Given the description of an element on the screen output the (x, y) to click on. 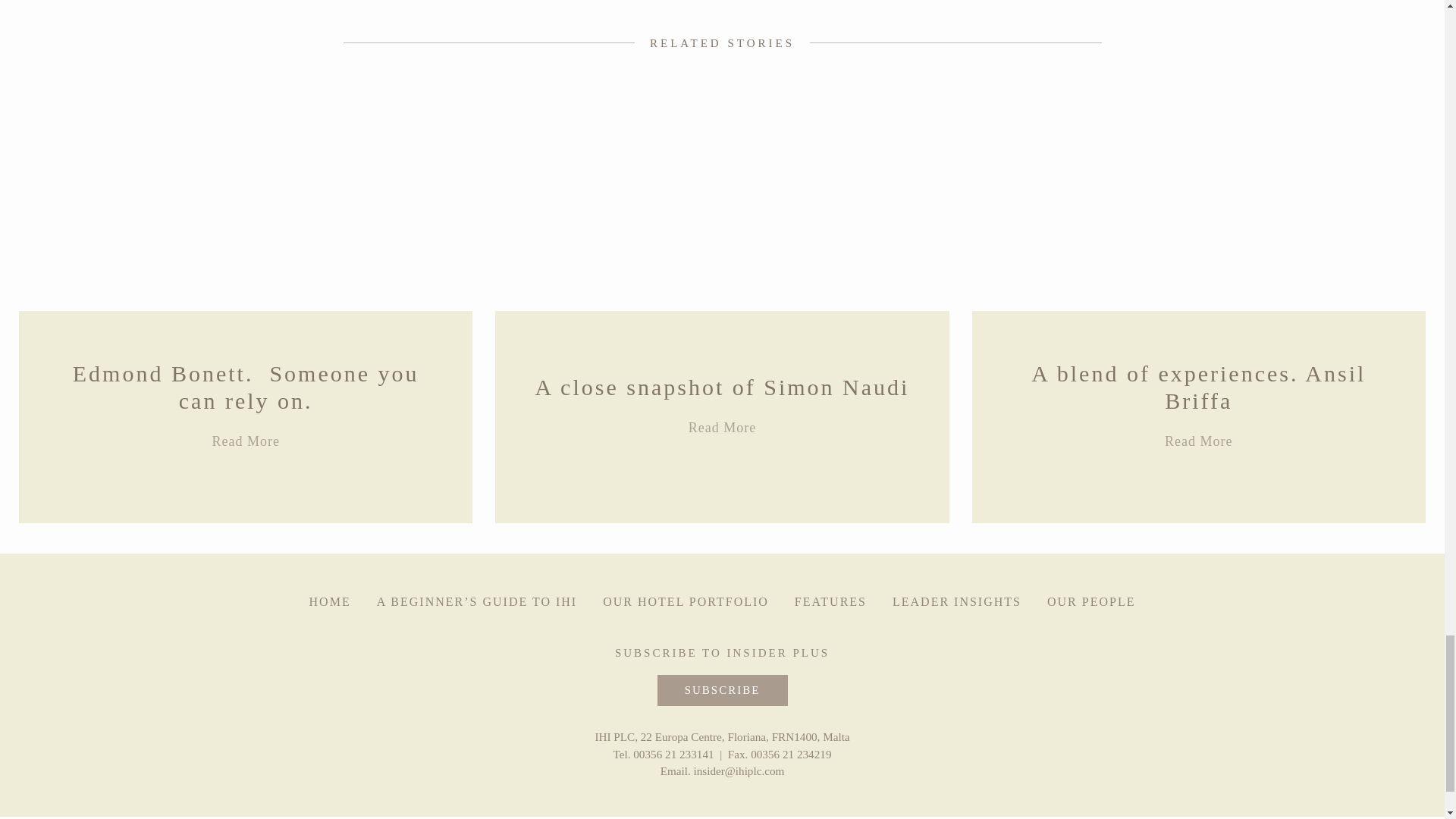
LEADER INSIGHTS (244, 417)
HOME (957, 601)
OUR PEOPLE (329, 601)
OUR HOTEL PORTFOLIO (1198, 417)
FEATURES (1090, 601)
SUBSCRIBE (685, 601)
